Given the description of an element on the screen output the (x, y) to click on. 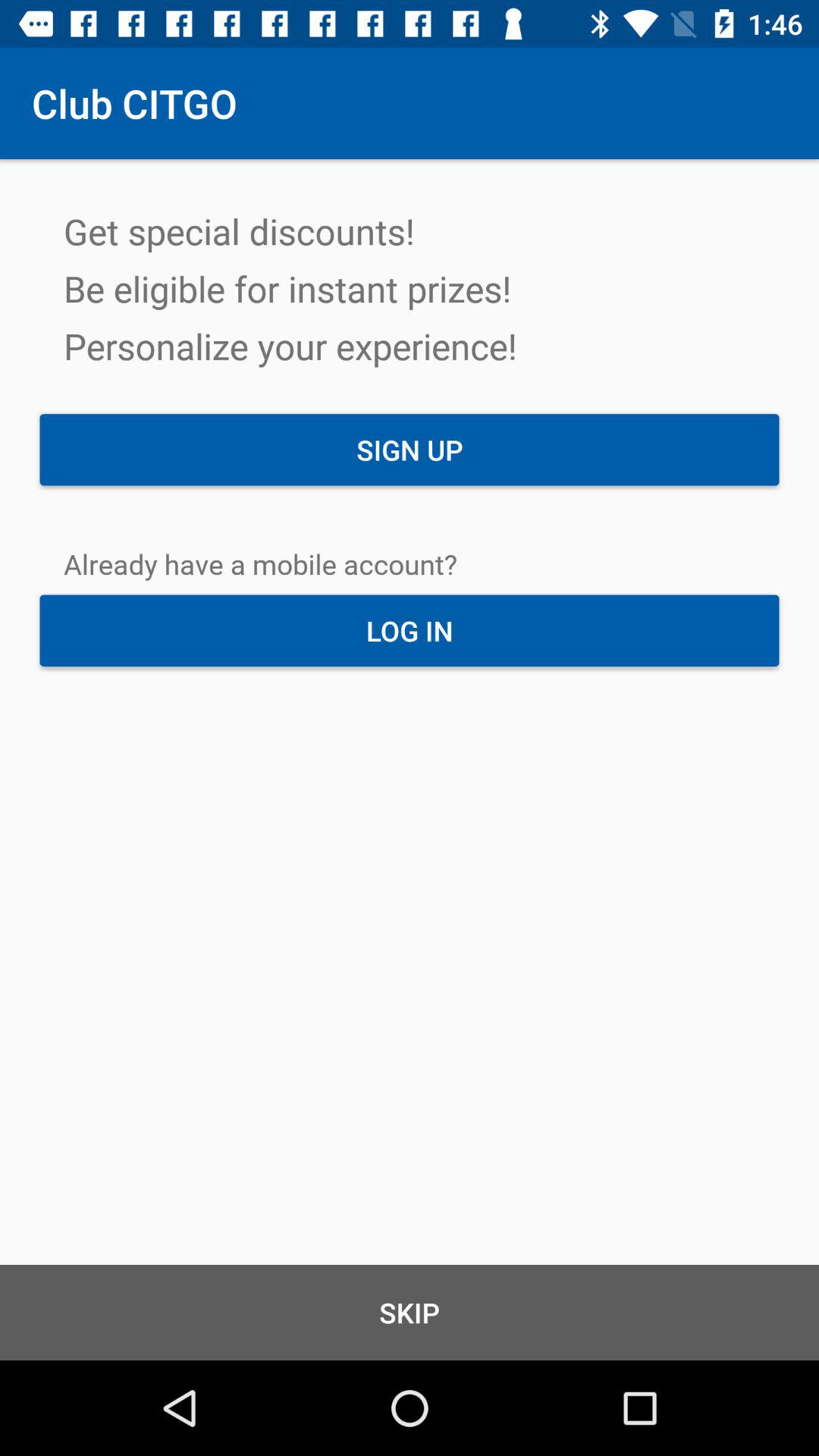
launch skip item (409, 1312)
